Given the description of an element on the screen output the (x, y) to click on. 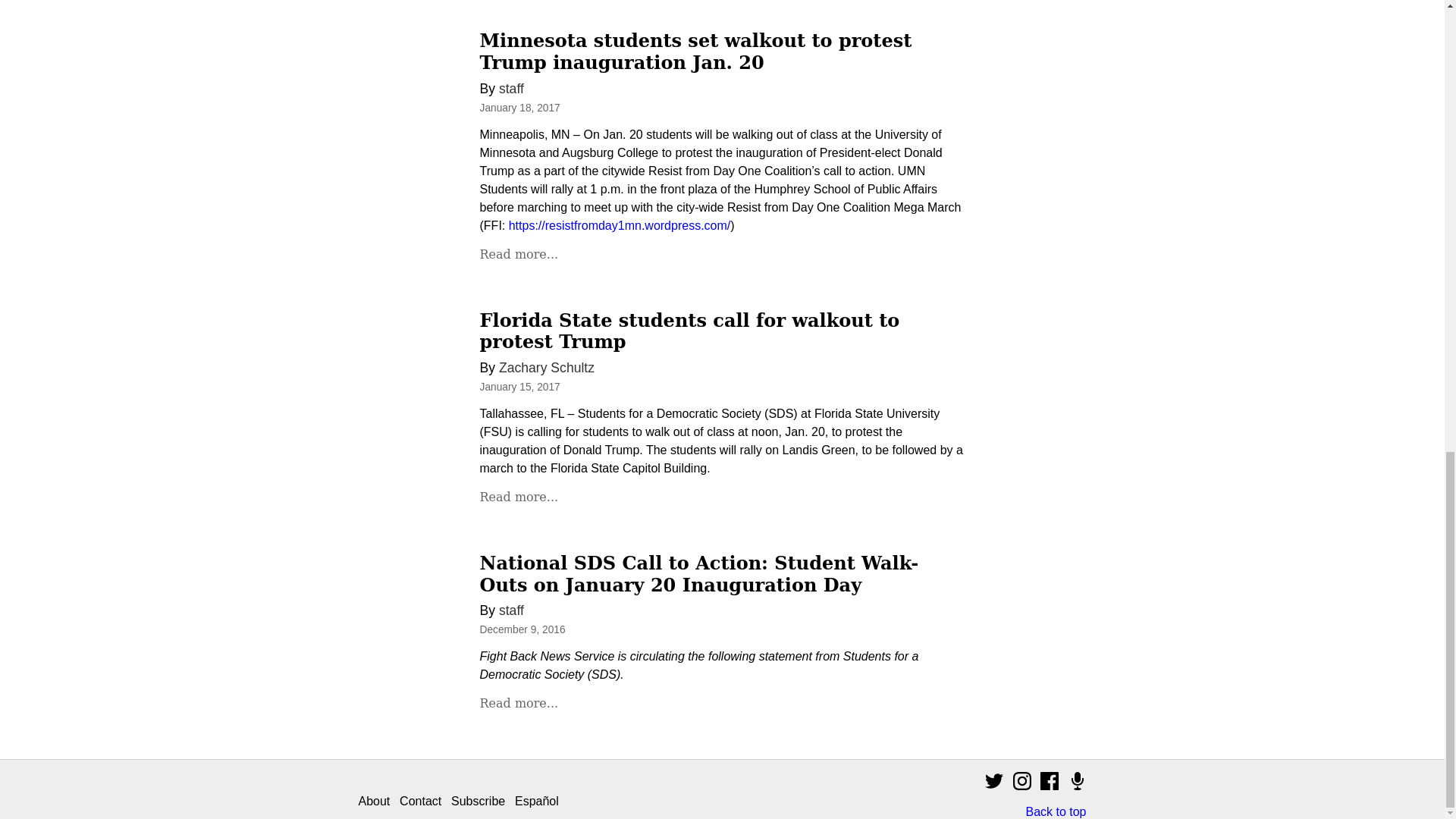
Read more... (518, 254)
staff (511, 88)
